Given the description of an element on the screen output the (x, y) to click on. 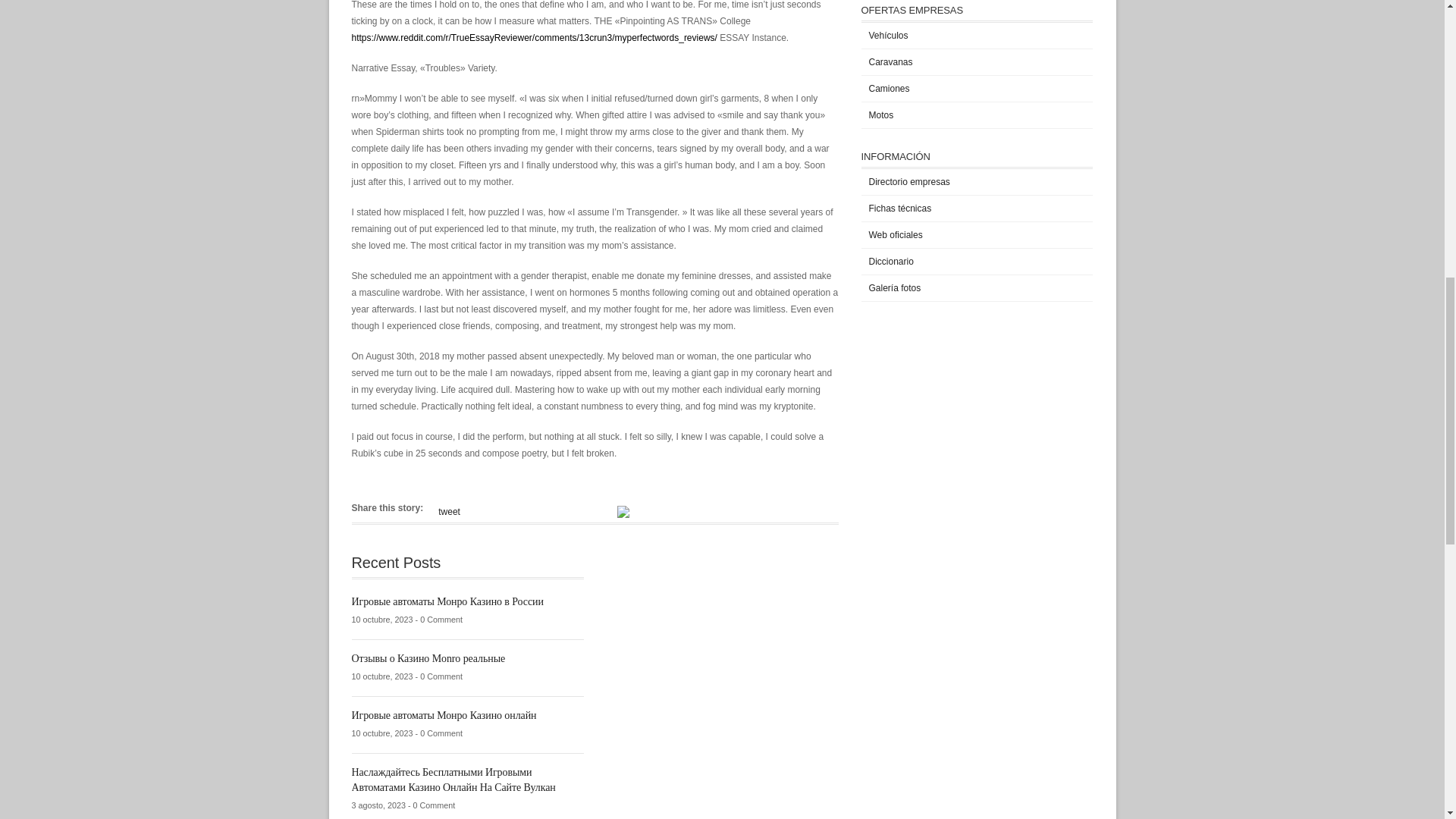
tweet (449, 511)
